Given the description of an element on the screen output the (x, y) to click on. 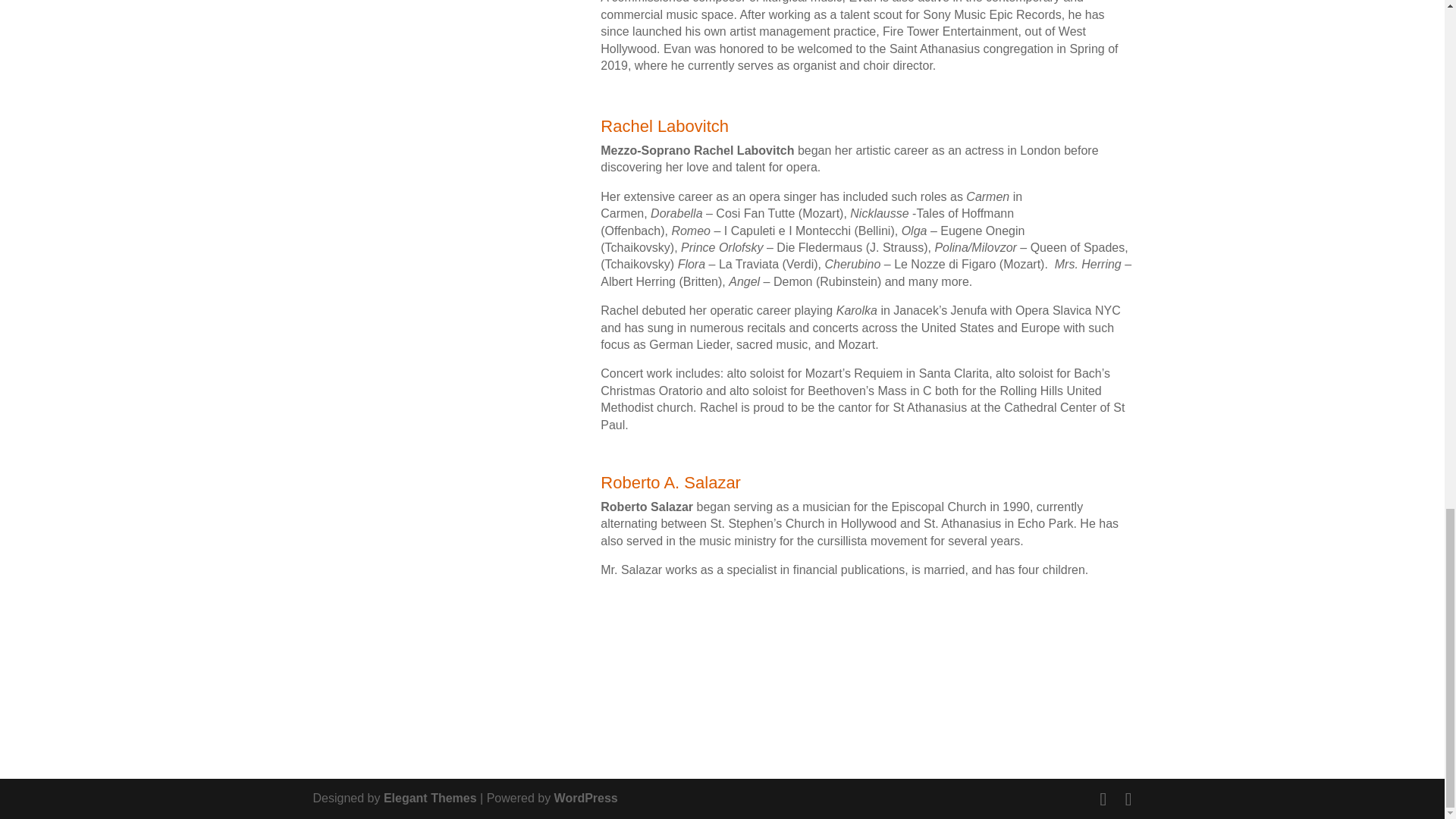
Premium WordPress Themes (430, 797)
Elegant Themes (430, 797)
WordPress (585, 797)
